Given the description of an element on the screen output the (x, y) to click on. 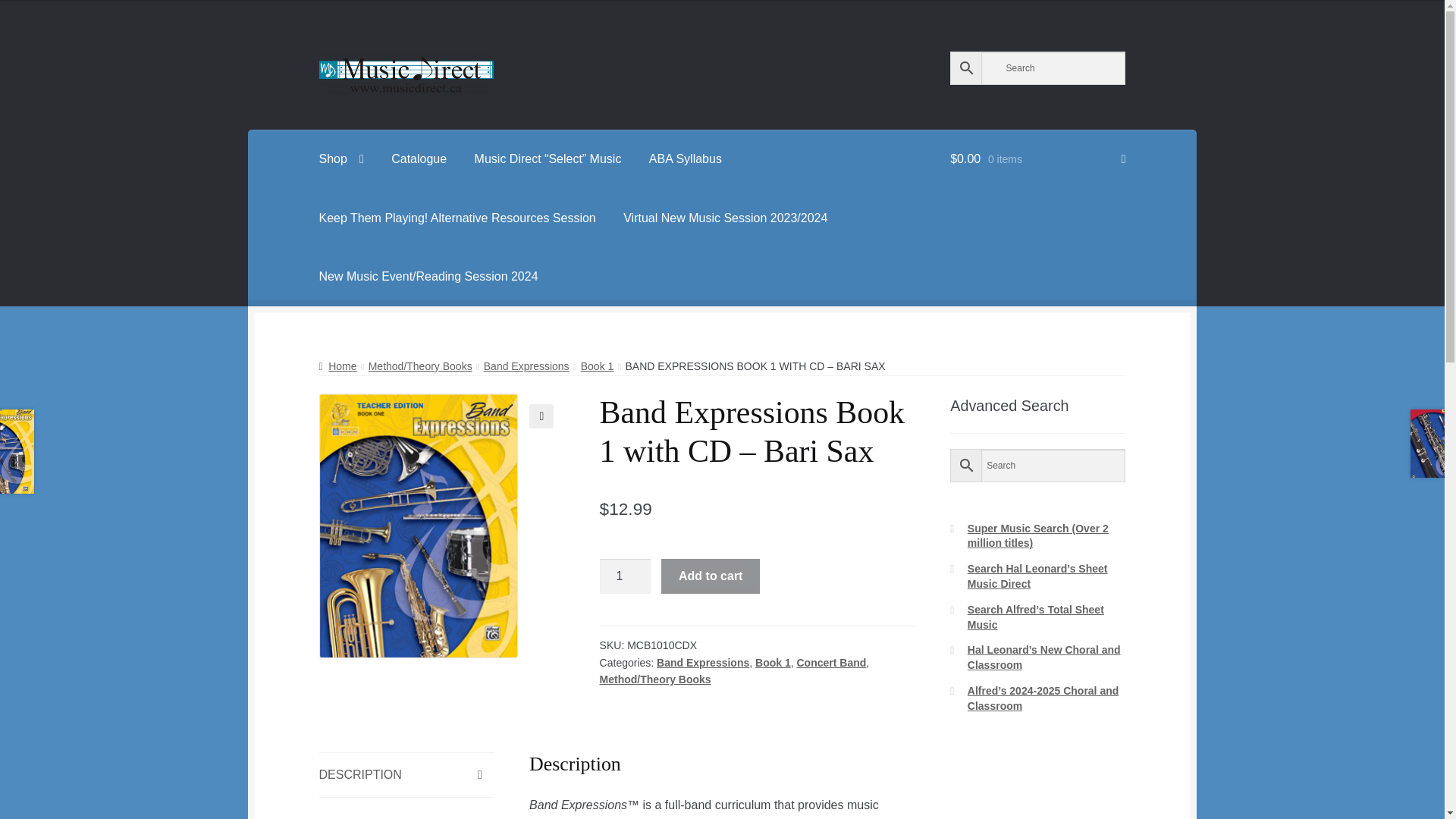
ABA Syllabus (685, 159)
1 (624, 575)
Keep Them Playing! Alternative Resources Session (457, 218)
Shop (341, 159)
Catalogue (418, 159)
View your shopping cart (1037, 159)
